Given the description of an element on the screen output the (x, y) to click on. 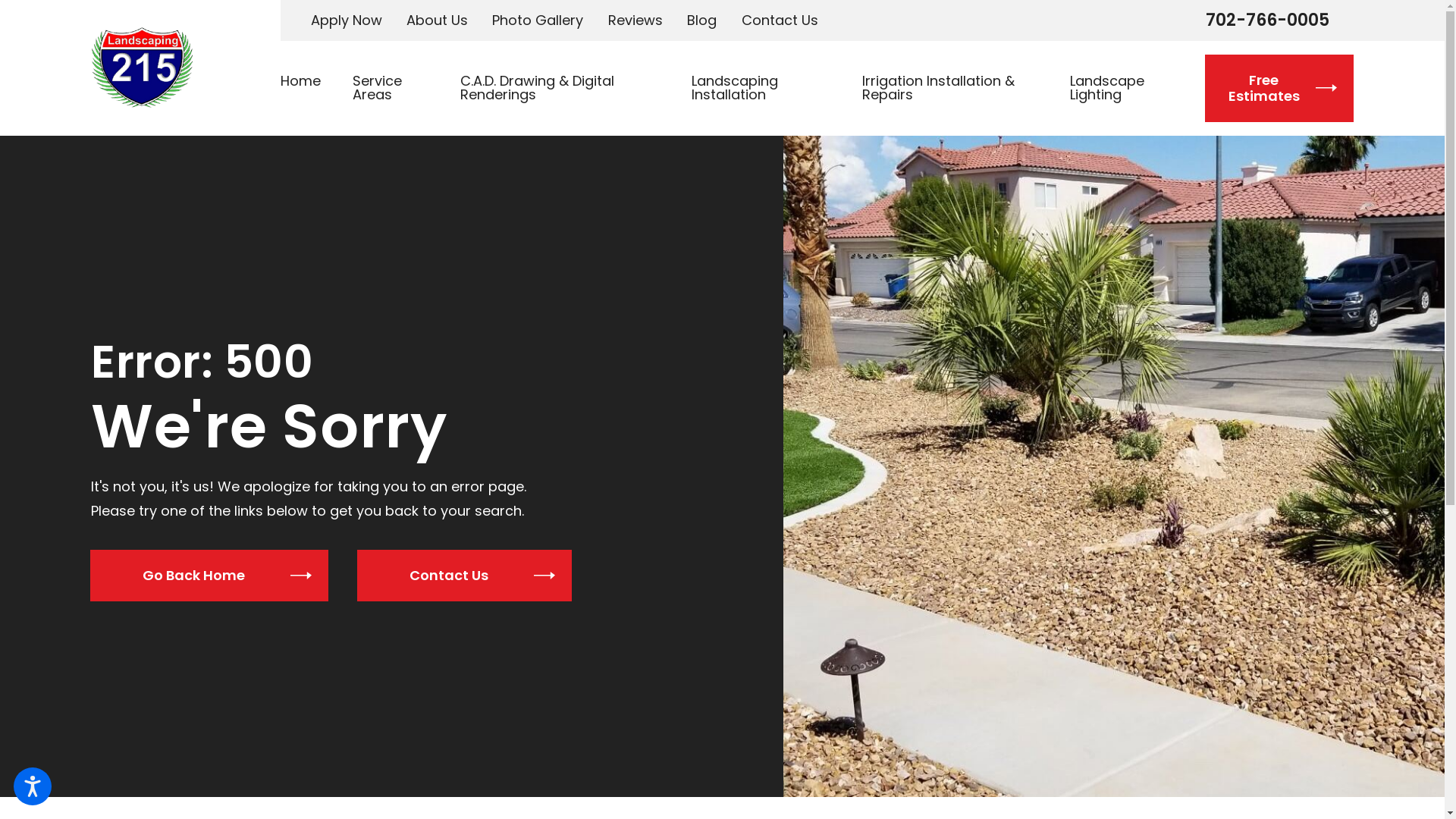
Service Areas Element type: text (390, 88)
About Us Element type: text (436, 19)
Irrigation Installation & Repairs Element type: text (950, 88)
Home Element type: text (308, 88)
Photo Gallery Element type: text (537, 19)
Open the accessibility options menu Element type: hover (32, 786)
Blog Element type: text (701, 19)
Reviews Element type: text (635, 19)
2-15 Landscaping Element type: hover (141, 67)
Go Back Home Element type: text (209, 575)
Landscape Lighting Element type: text (1117, 88)
702-766-0005 Element type: text (1267, 20)
Apply Now Element type: text (346, 19)
Contact Us Element type: text (779, 19)
Free Estimates Element type: text (1278, 88)
C.A.D. Drawing & Digital Renderings Element type: text (559, 88)
Contact Us Element type: text (464, 575)
Landscaping Installation Element type: text (760, 88)
